Given the description of an element on the screen output the (x, y) to click on. 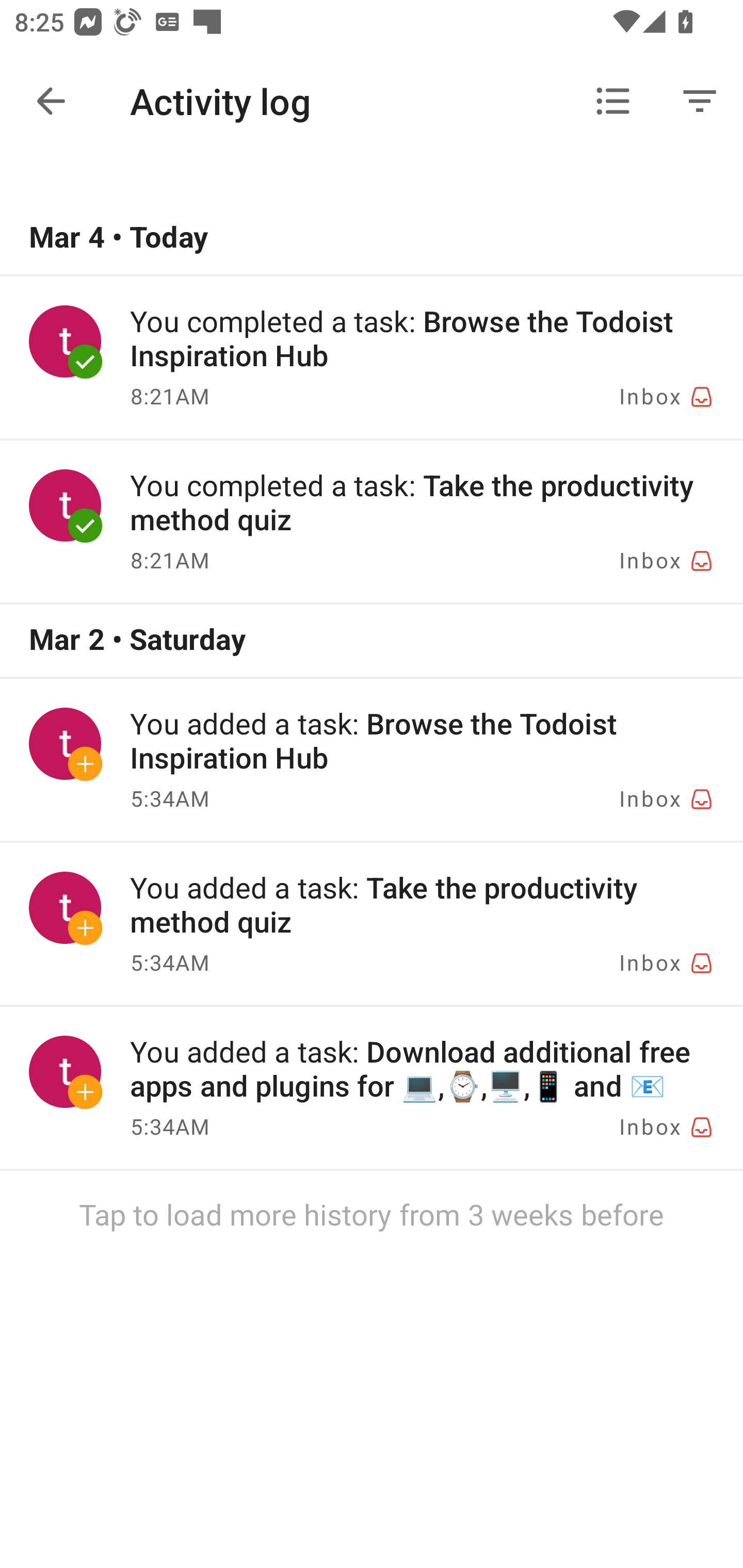
Navigate up (50, 101)
By project (612, 101)
Filter (699, 101)
Mar 4 • Today (371, 238)
Mar 2 • Saturday (371, 641)
Tap to load more history from 3 weeks before (371, 1214)
